Given the description of an element on the screen output the (x, y) to click on. 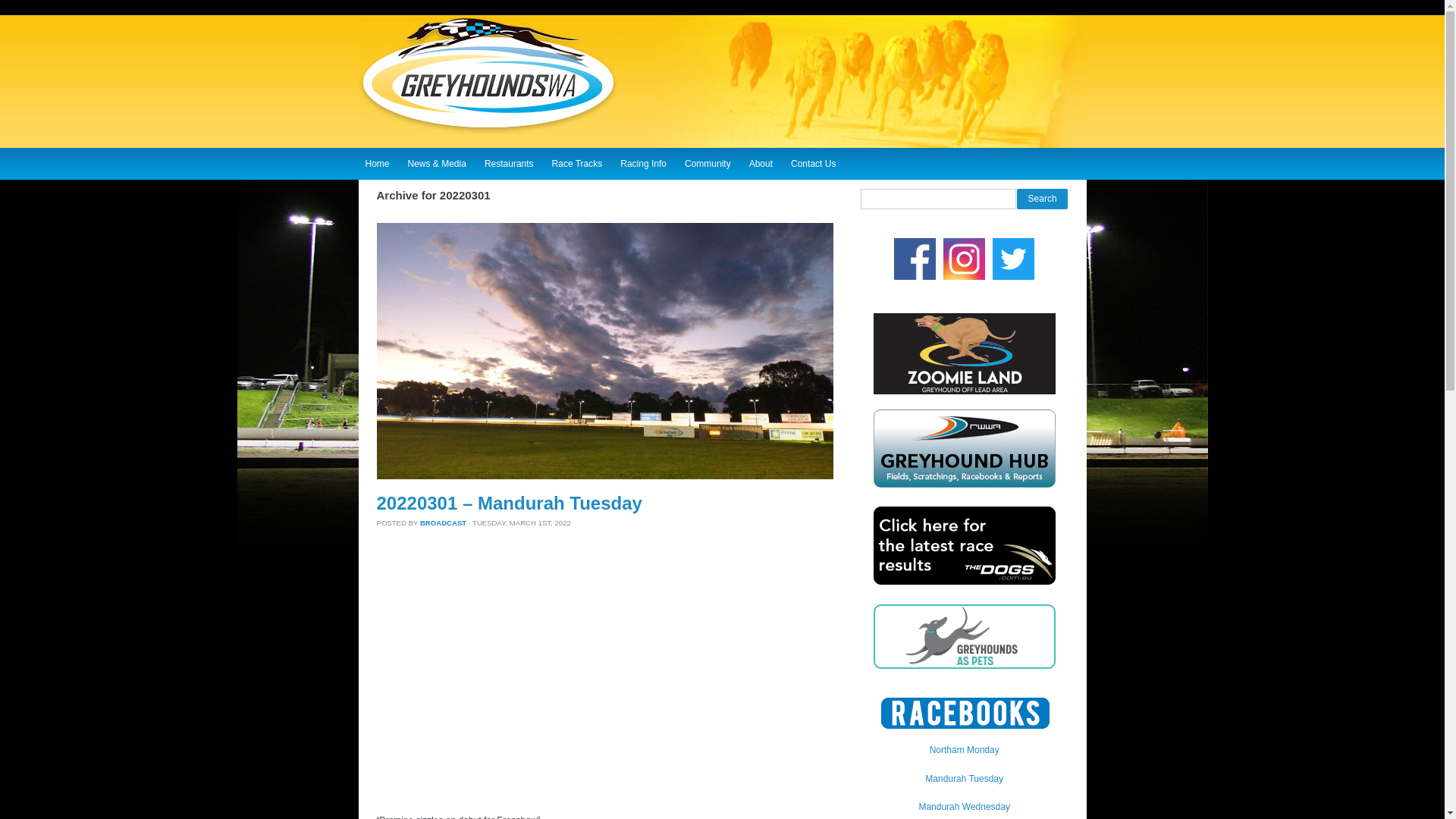
About (760, 162)
Search (1042, 198)
BROADCAST (442, 522)
Community (708, 162)
Race Tracks (577, 162)
Contact Us (813, 162)
Restaurants (508, 162)
Search (1042, 198)
broadcast (442, 522)
Racing Info (642, 162)
